Given the description of an element on the screen output the (x, y) to click on. 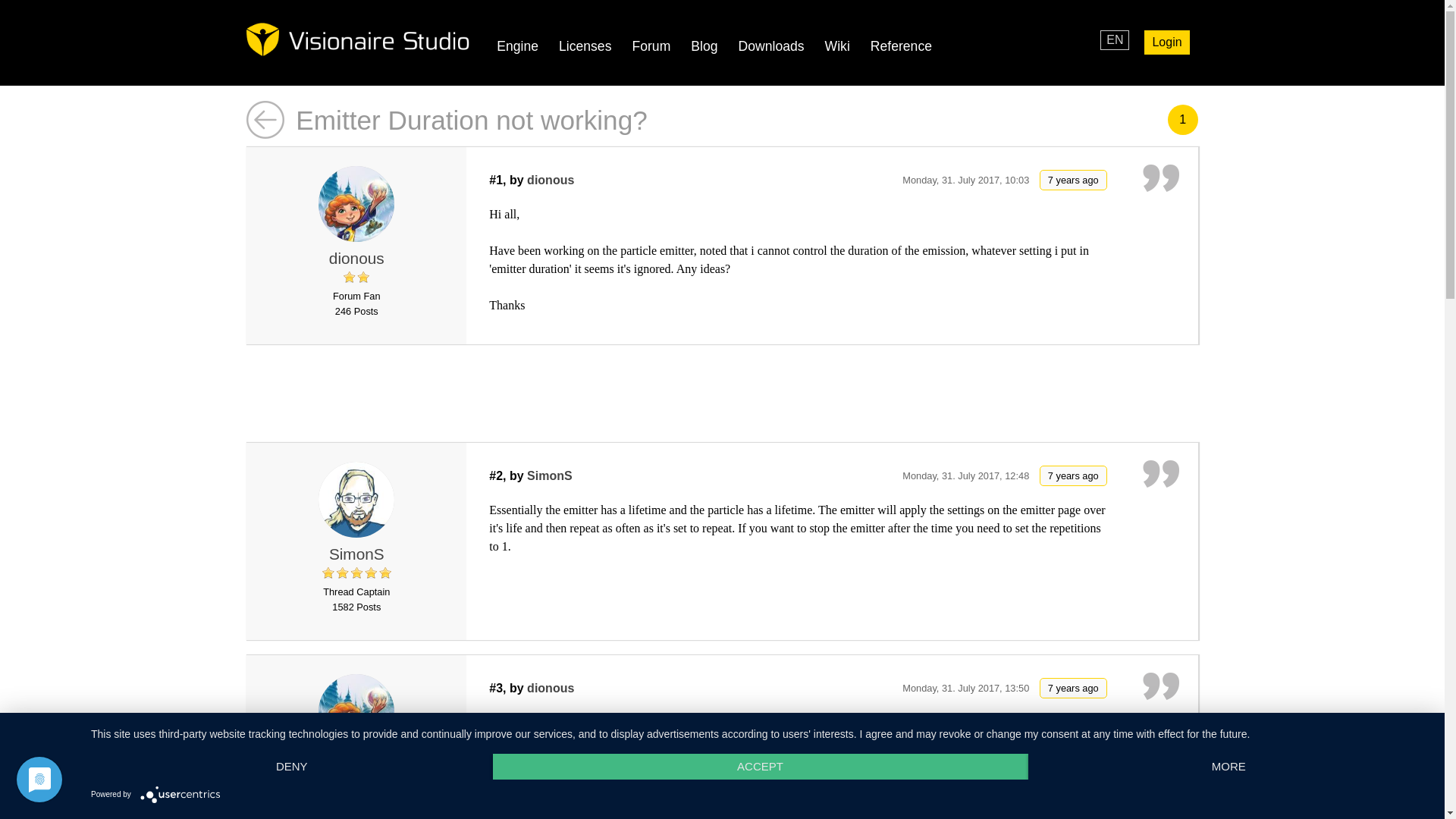
dionous (550, 687)
Forum (650, 46)
EN (1114, 39)
SimonS (356, 499)
Downloads (771, 46)
Wiki (837, 46)
SimonS (549, 475)
Reference (900, 46)
Engine (517, 46)
1 (1182, 119)
dionous (356, 712)
Quote (1160, 687)
dionous (356, 257)
dionous (356, 203)
Quote (1160, 475)
